Given the description of an element on the screen output the (x, y) to click on. 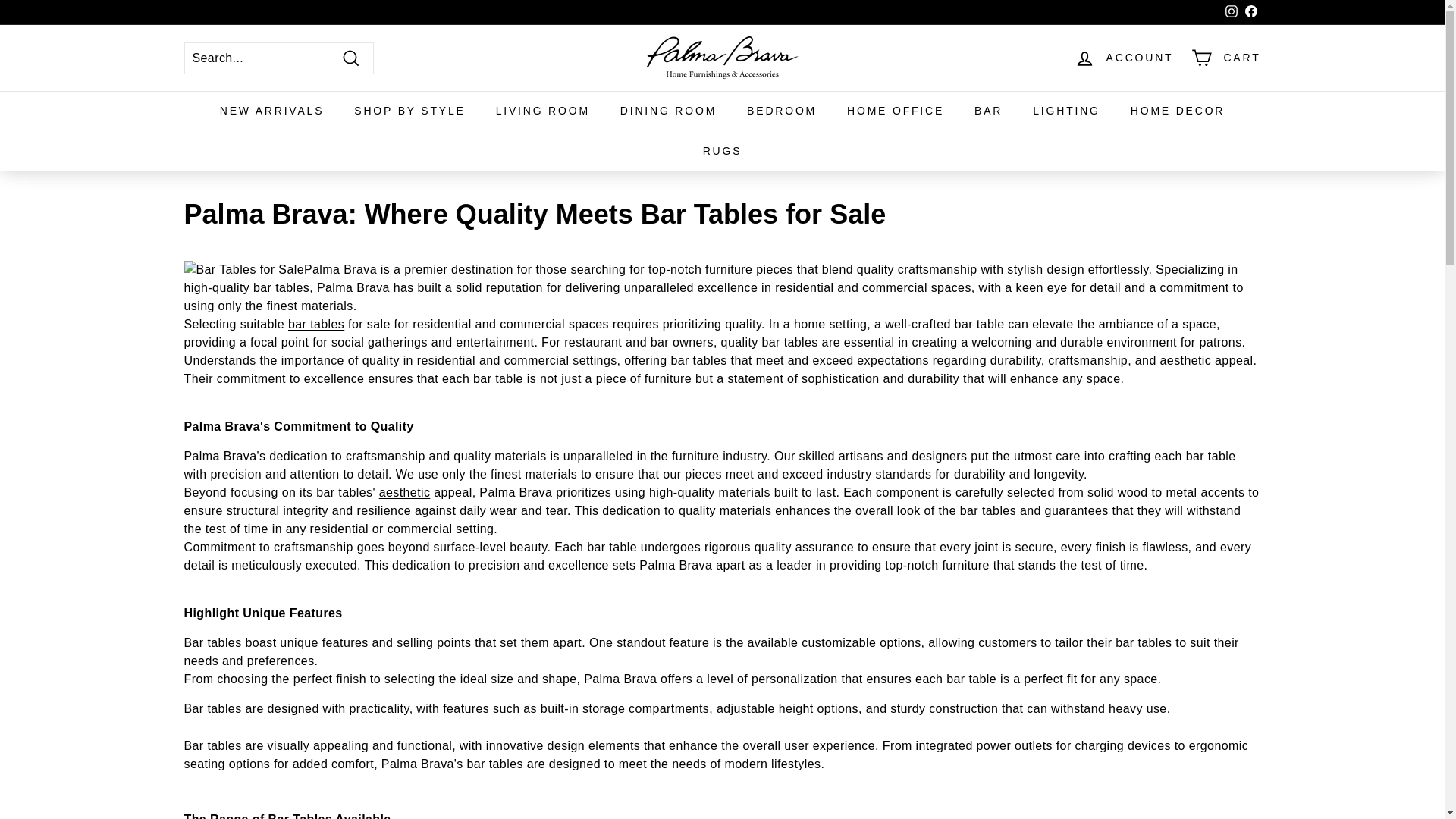
SHOP BY STYLE (409, 110)
LIVING ROOM (542, 110)
NEW ARRIVALS (272, 110)
ACCOUNT (1123, 58)
